Given the description of an element on the screen output the (x, y) to click on. 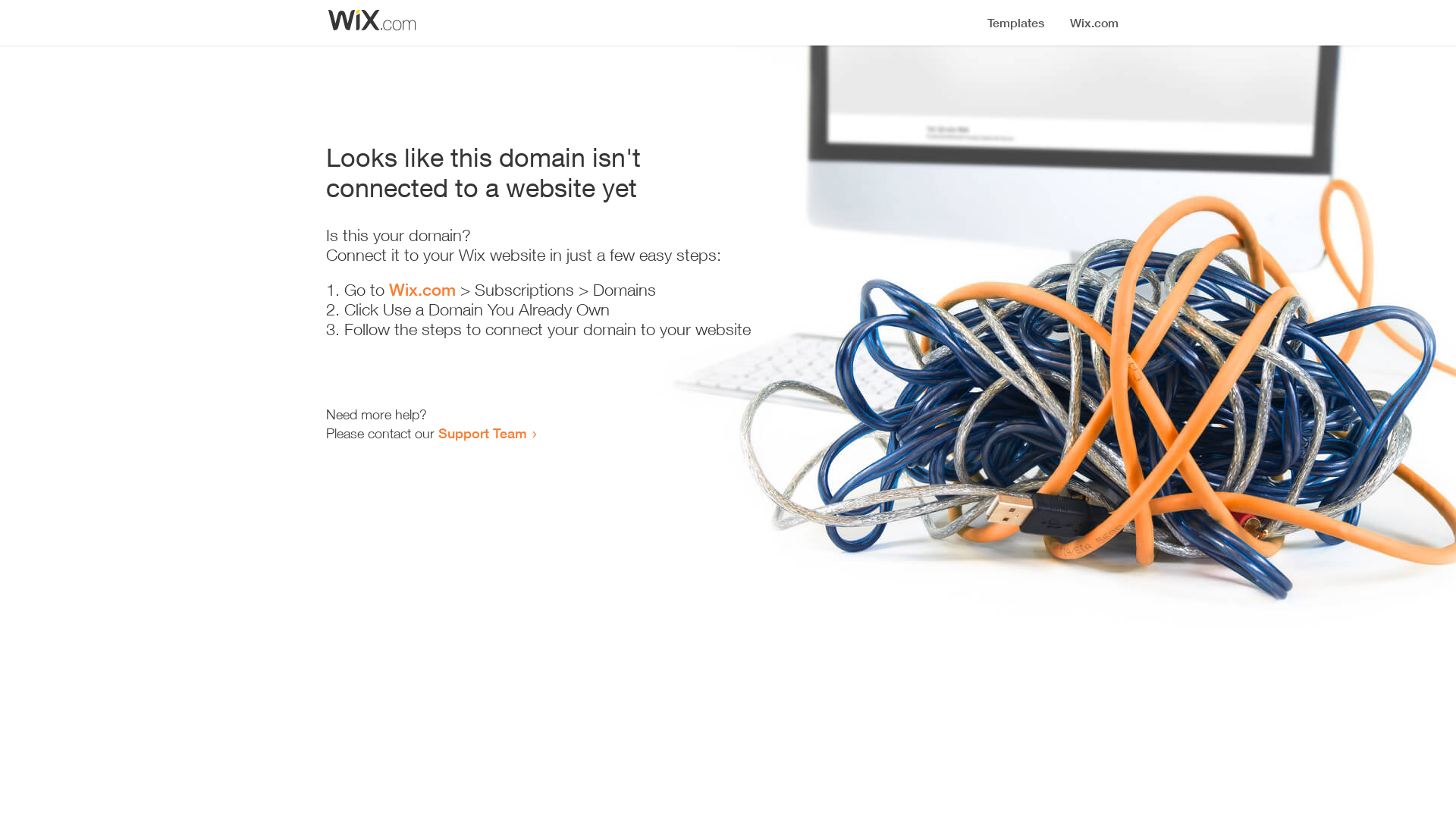
Wix.com Element type: text (422, 289)
Support Team Element type: text (482, 432)
